Given the description of an element on the screen output the (x, y) to click on. 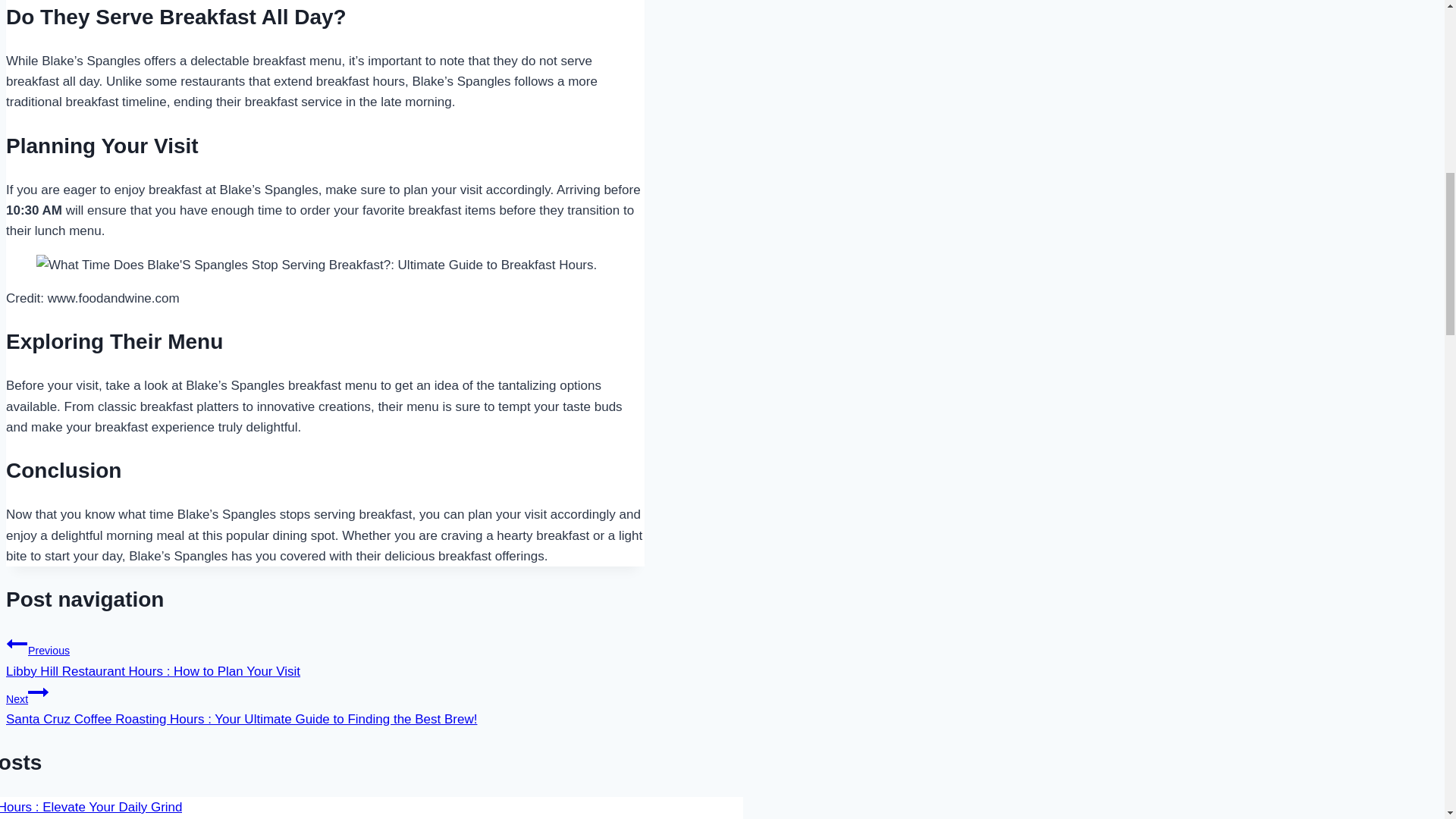
Previous (16, 643)
Continue (37, 691)
